Given the description of an element on the screen output the (x, y) to click on. 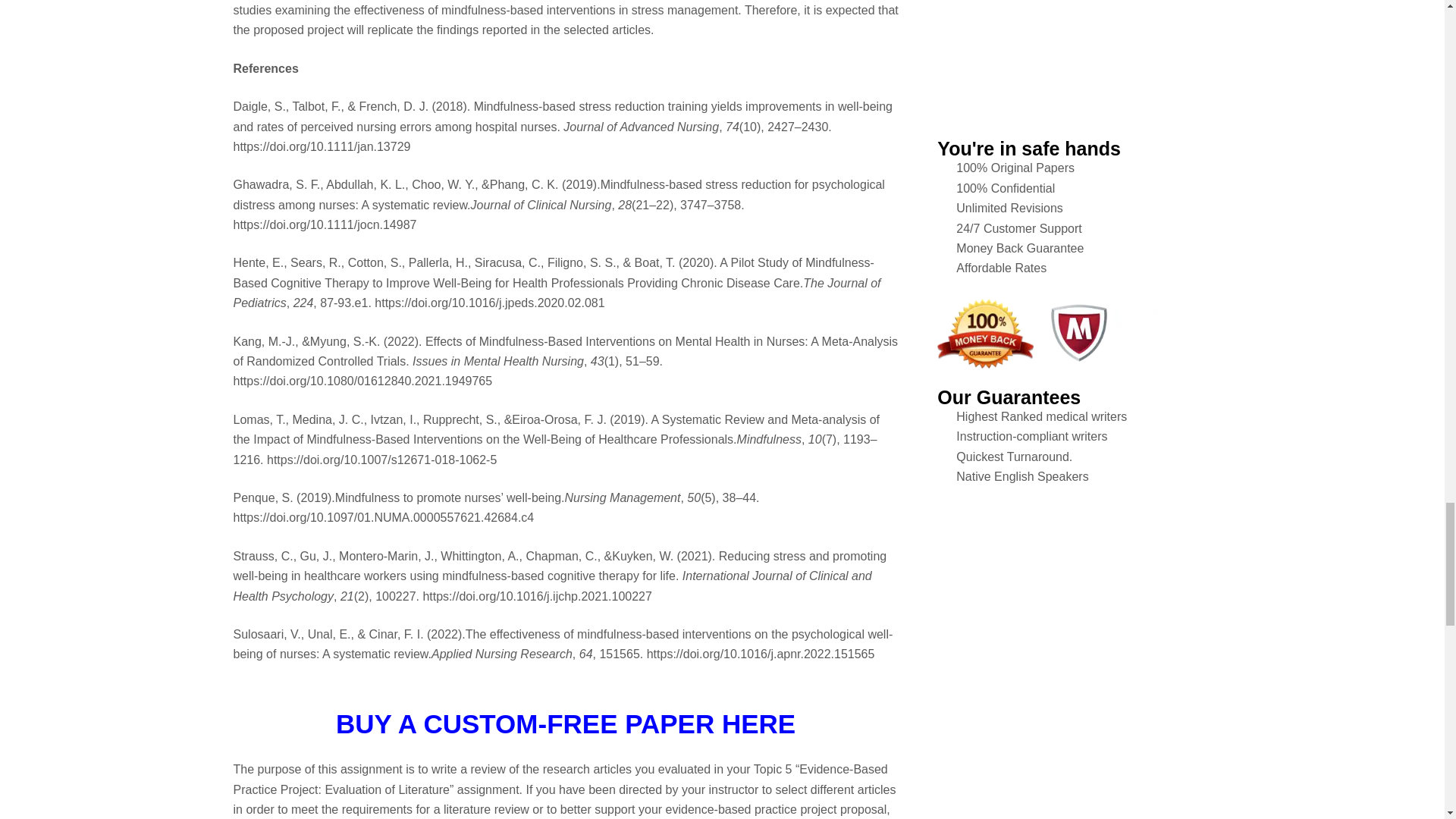
BUY A CUSTOM-FREE PAPER HERE (565, 723)
